Given the description of an element on the screen output the (x, y) to click on. 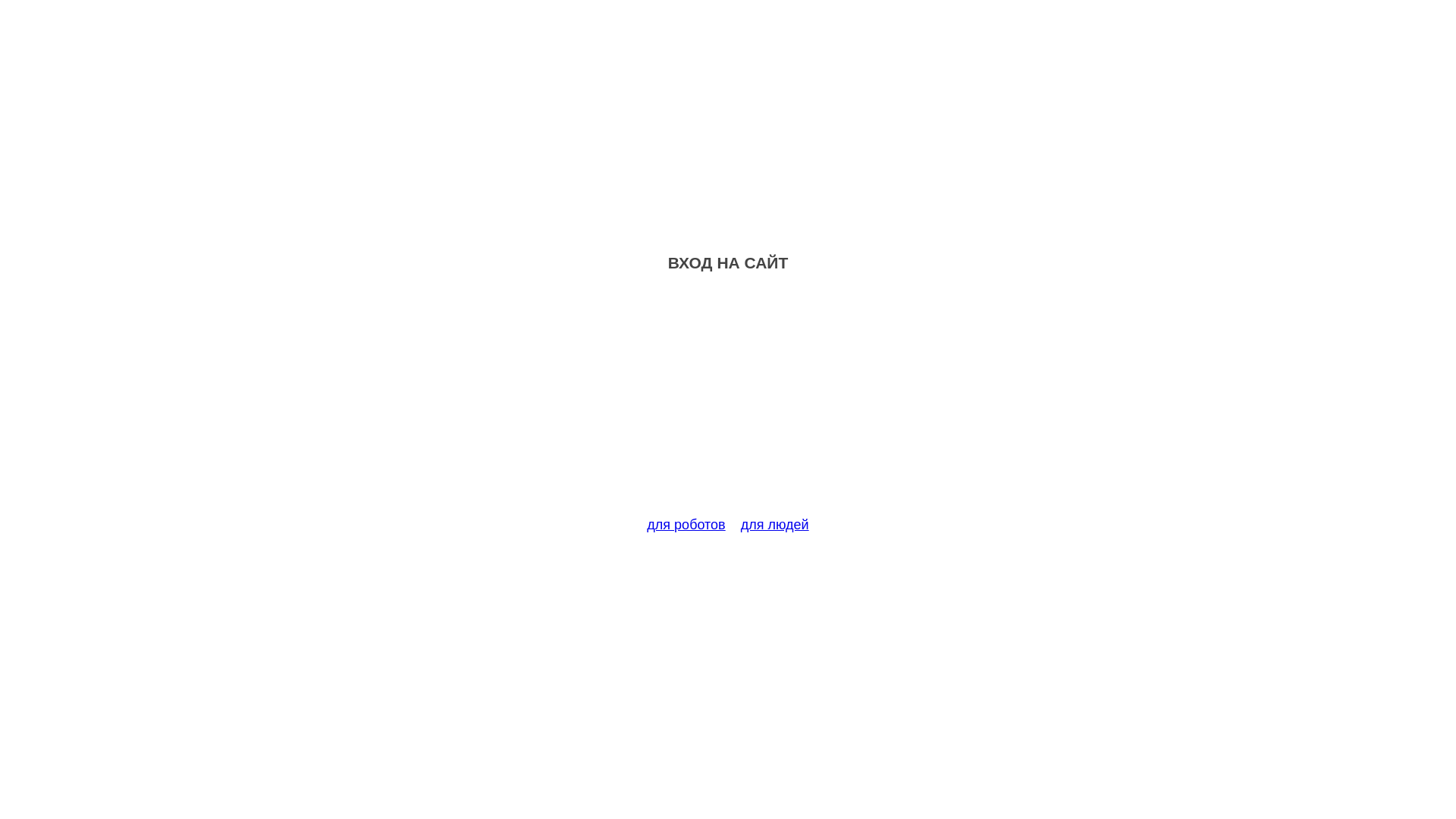
Advertisement Element type: hover (727, 403)
